Given the description of an element on the screen output the (x, y) to click on. 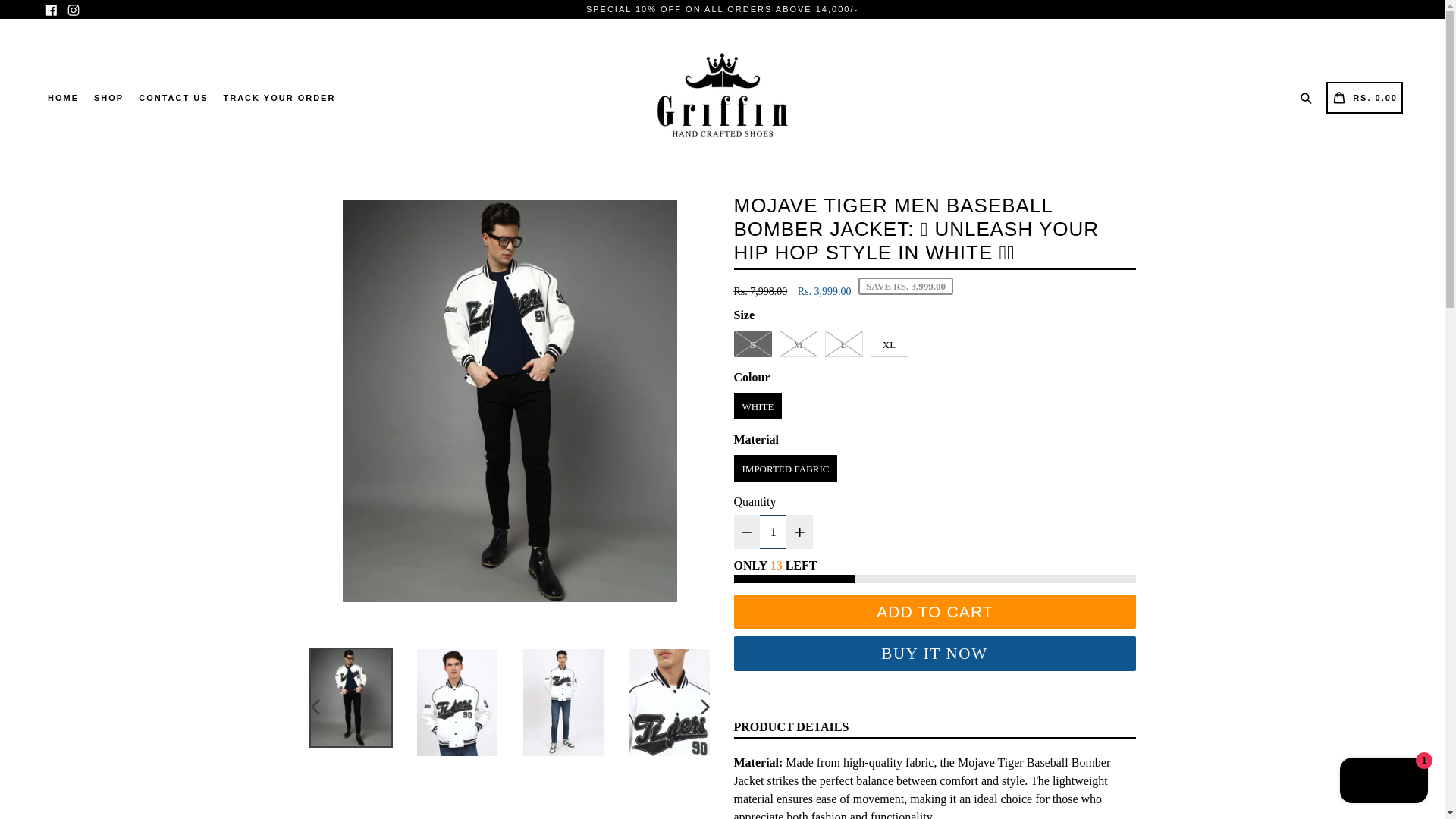
Instagram (73, 9)
PREVIOUS SLIDE (315, 705)
BUY IT NOW (934, 653)
Search (1308, 96)
ADD TO CART (934, 611)
PRODUCT DETAILS (790, 727)
Shopify online store chat (1364, 97)
NEXT SLIDE (1383, 781)
TRACK YOUR ORDER (705, 705)
Facebook (278, 97)
